Given the description of an element on the screen output the (x, y) to click on. 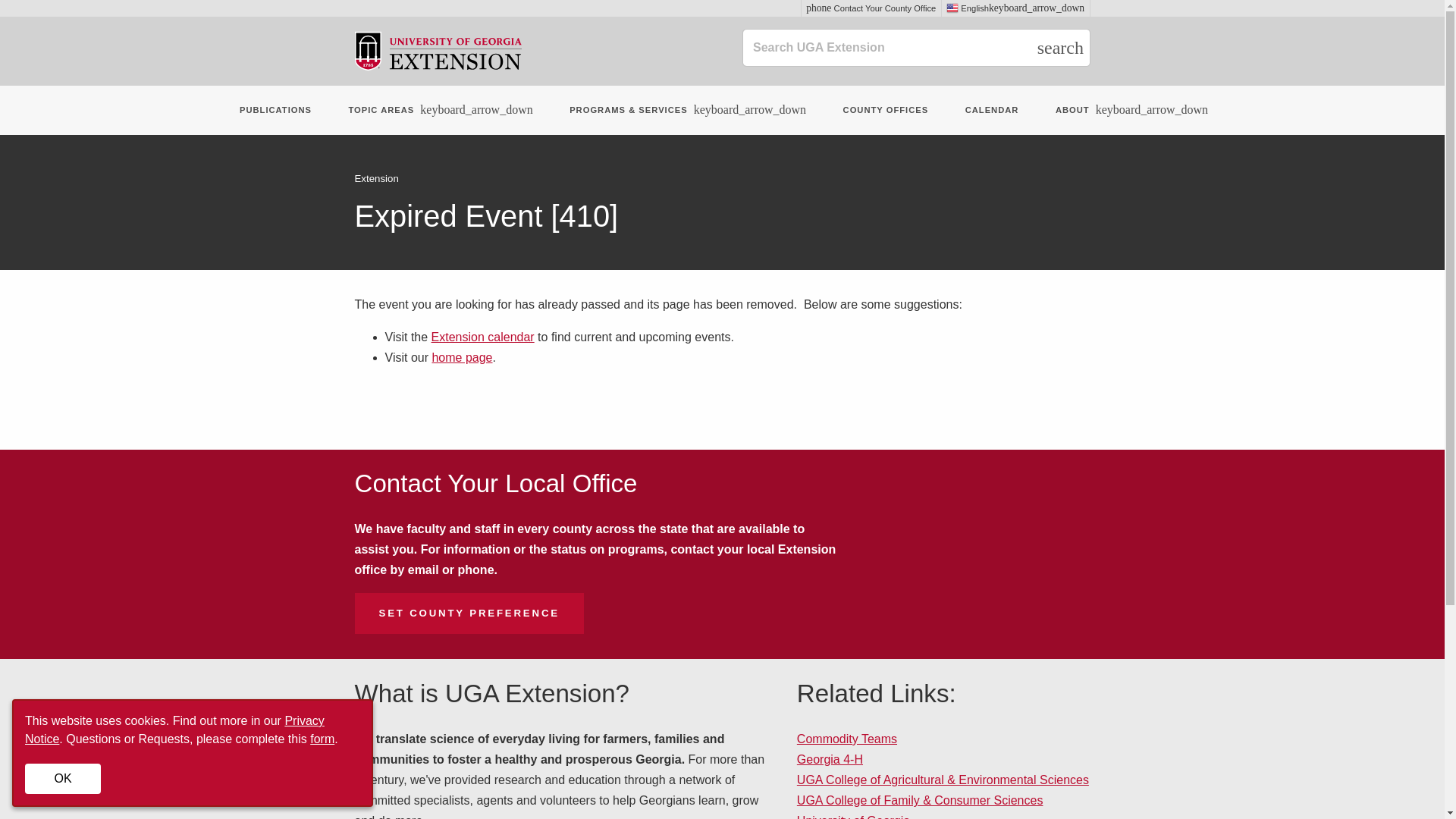
COUNTY OFFICES (886, 110)
PUBLICATIONS (275, 110)
CALENDAR (991, 110)
search (1059, 47)
